Given the description of an element on the screen output the (x, y) to click on. 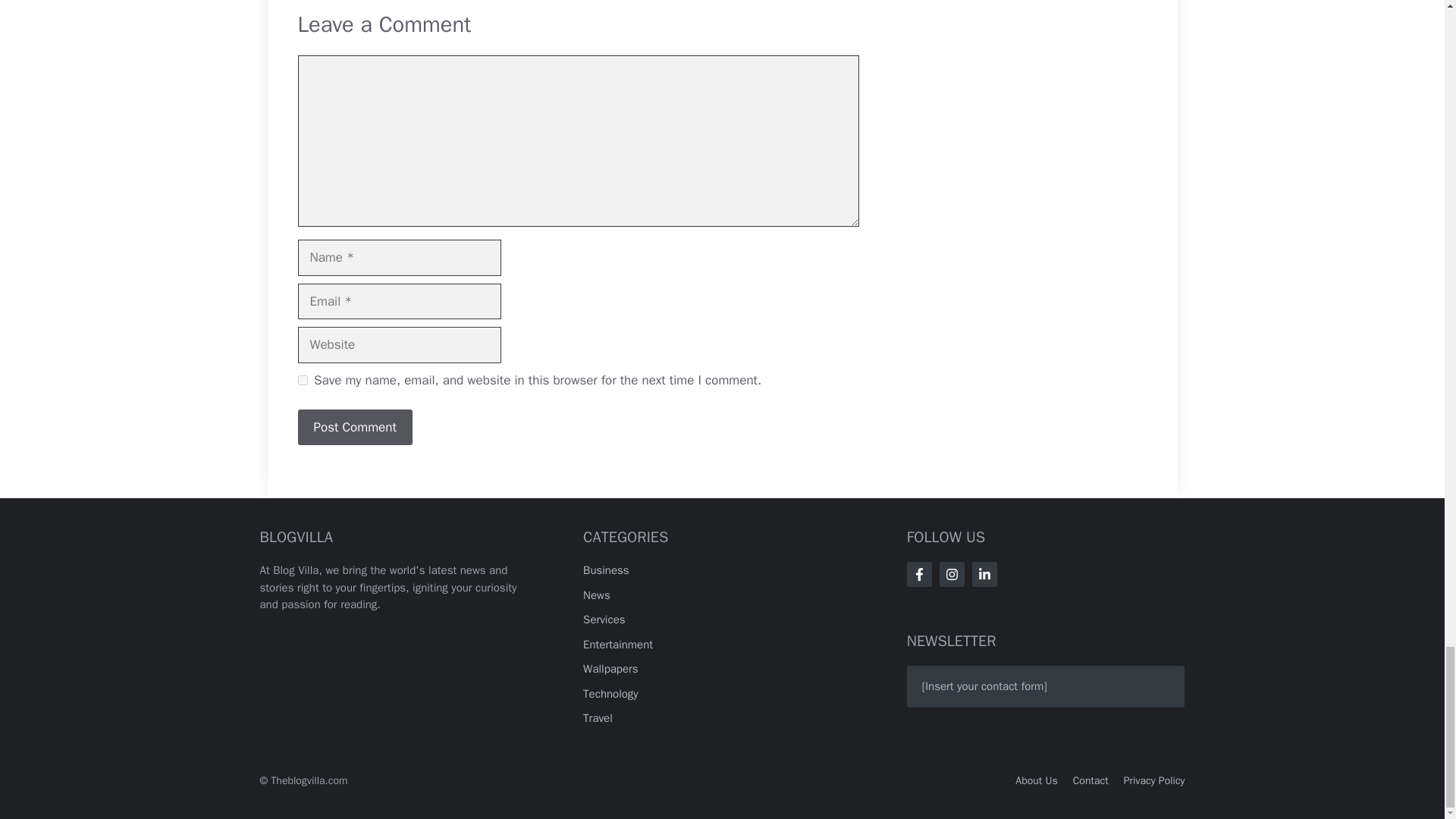
Post Comment (354, 427)
yes (302, 379)
Post Comment (354, 427)
